Given the description of an element on the screen output the (x, y) to click on. 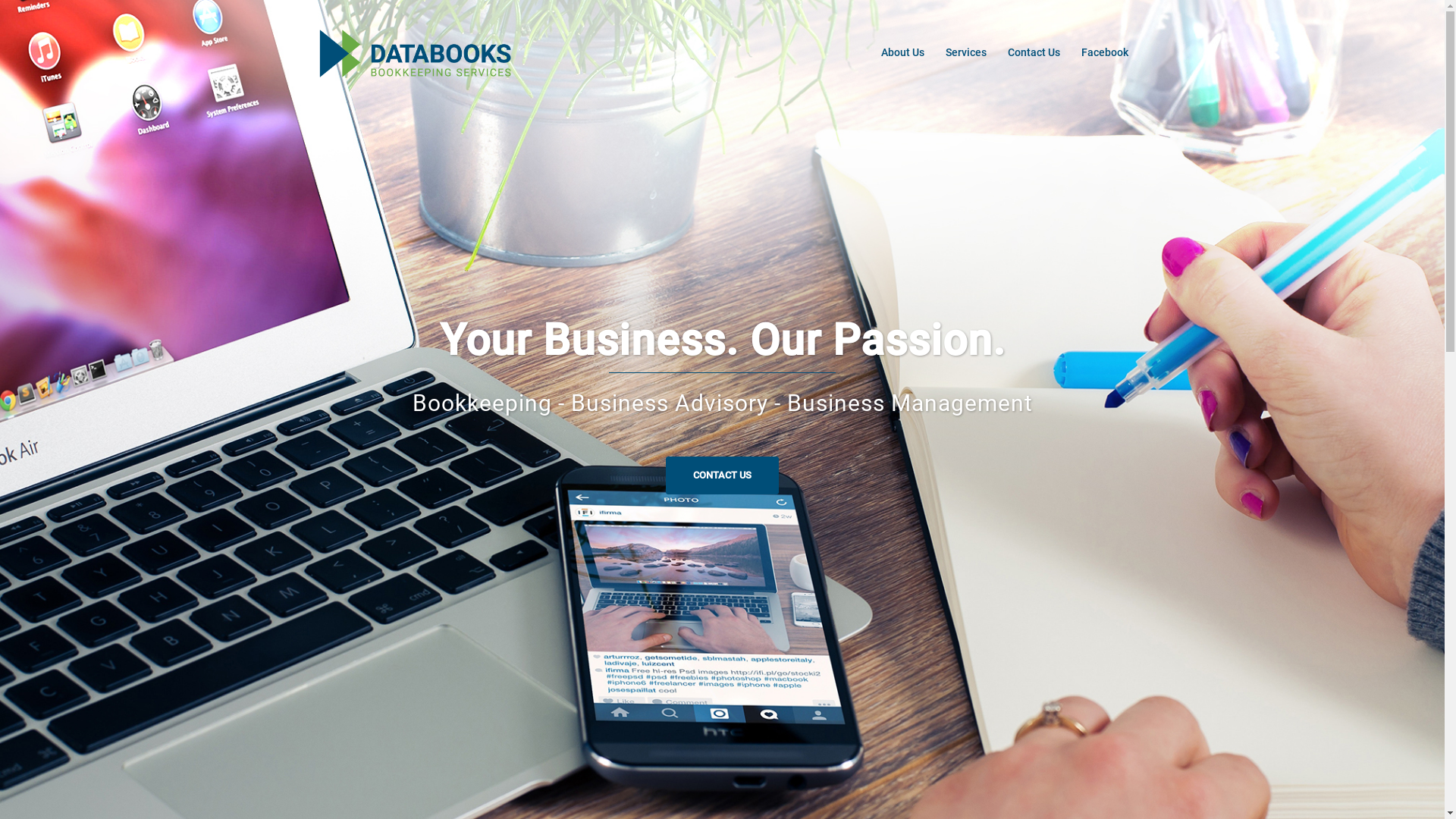
Services Element type: text (965, 52)
Skip to content Element type: text (0, 0)
Contact Us Element type: text (1033, 52)
About Us Element type: text (902, 52)
DataBooks Element type: hover (414, 51)
CONTACT US Element type: text (721, 475)
Facebook Element type: text (1104, 52)
